Given the description of an element on the screen output the (x, y) to click on. 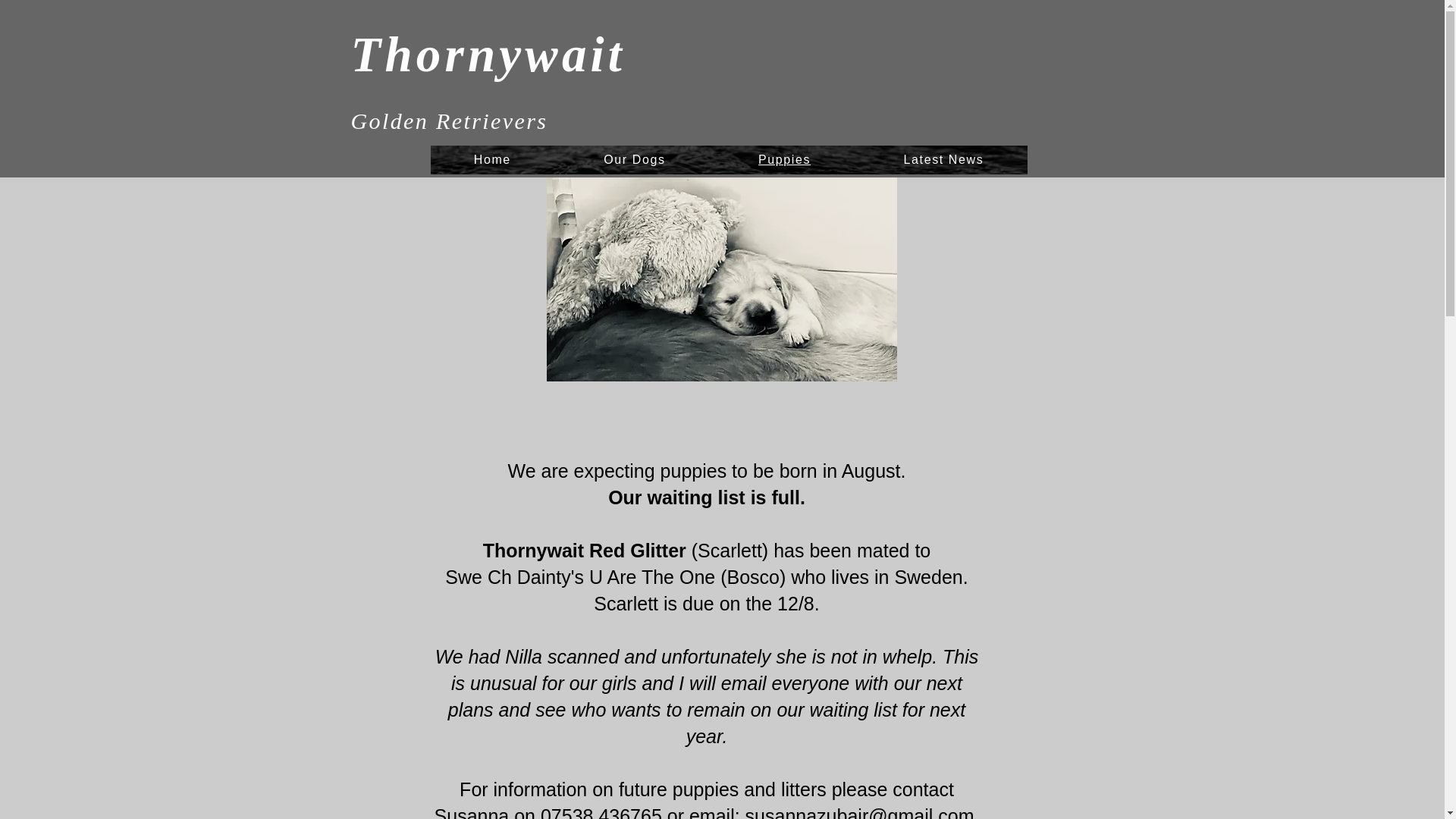
Our Dogs (634, 159)
Latest News (943, 159)
Home (492, 159)
Puppies (784, 159)
